Given the description of an element on the screen output the (x, y) to click on. 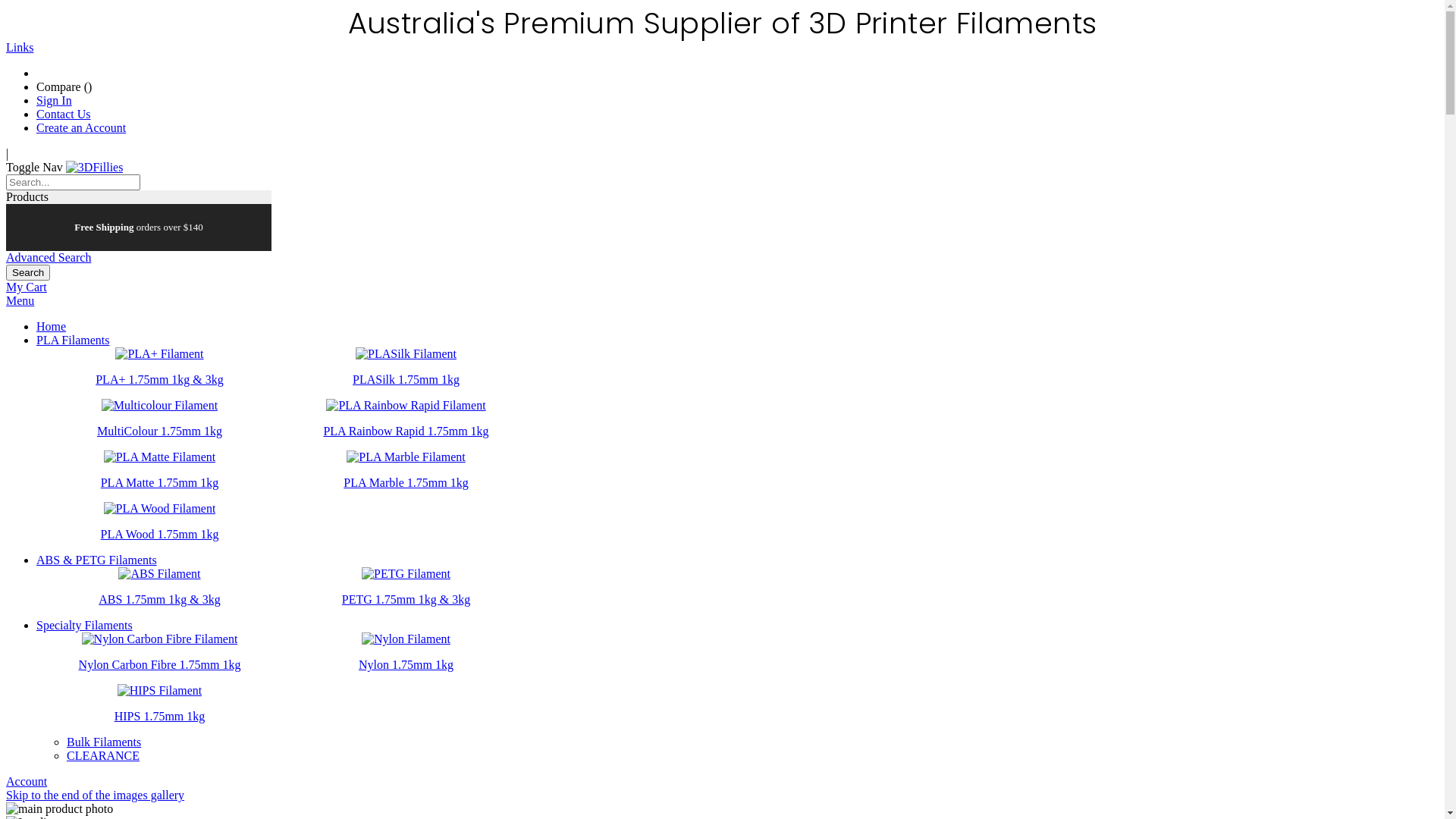
PLA Filaments Element type: text (72, 339)
Home Element type: text (50, 326)
Specialty Filaments Element type: text (84, 624)
Skip to the end of the images gallery Element type: text (95, 794)
Sign In Element type: text (54, 100)
Menu Element type: text (20, 300)
PLA Wood 1.75mm 1kg Element type: text (159, 533)
PLA Matte 1.75mm 1kg Element type: text (159, 482)
PETG 1.75mm 1kg & 3kg Element type: text (406, 599)
ABS & PETG Filaments Element type: text (96, 559)
My Cart Element type: text (26, 286)
Search Element type: text (28, 272)
PLA+ 1.75mm 1kg & 3kg Element type: text (159, 379)
Contact Us Element type: text (63, 113)
PLASilk 1.75mm 1kg Element type: text (405, 379)
MultiColour 1.75mm 1kg Element type: text (159, 430)
Bulk Filaments Element type: text (103, 741)
Create an Account Element type: text (80, 127)
Nylon 1.75mm 1kg Element type: text (405, 664)
Advanced Search Element type: text (48, 257)
ABS 1.75mm 1kg & 3kg Element type: text (158, 599)
Links Element type: text (19, 46)
CLEARANCE Element type: text (102, 755)
3DFillies Element type: hover (94, 166)
PLA Marble 1.75mm 1kg Element type: text (405, 482)
Compare () Element type: text (63, 86)
PLA Rainbow Rapid 1.75mm 1kg Element type: text (405, 430)
HIPS 1.75mm 1kg Element type: text (159, 715)
Nylon Carbon Fibre 1.75mm 1kg Element type: text (159, 664)
Account Element type: text (26, 781)
